Given the description of an element on the screen output the (x, y) to click on. 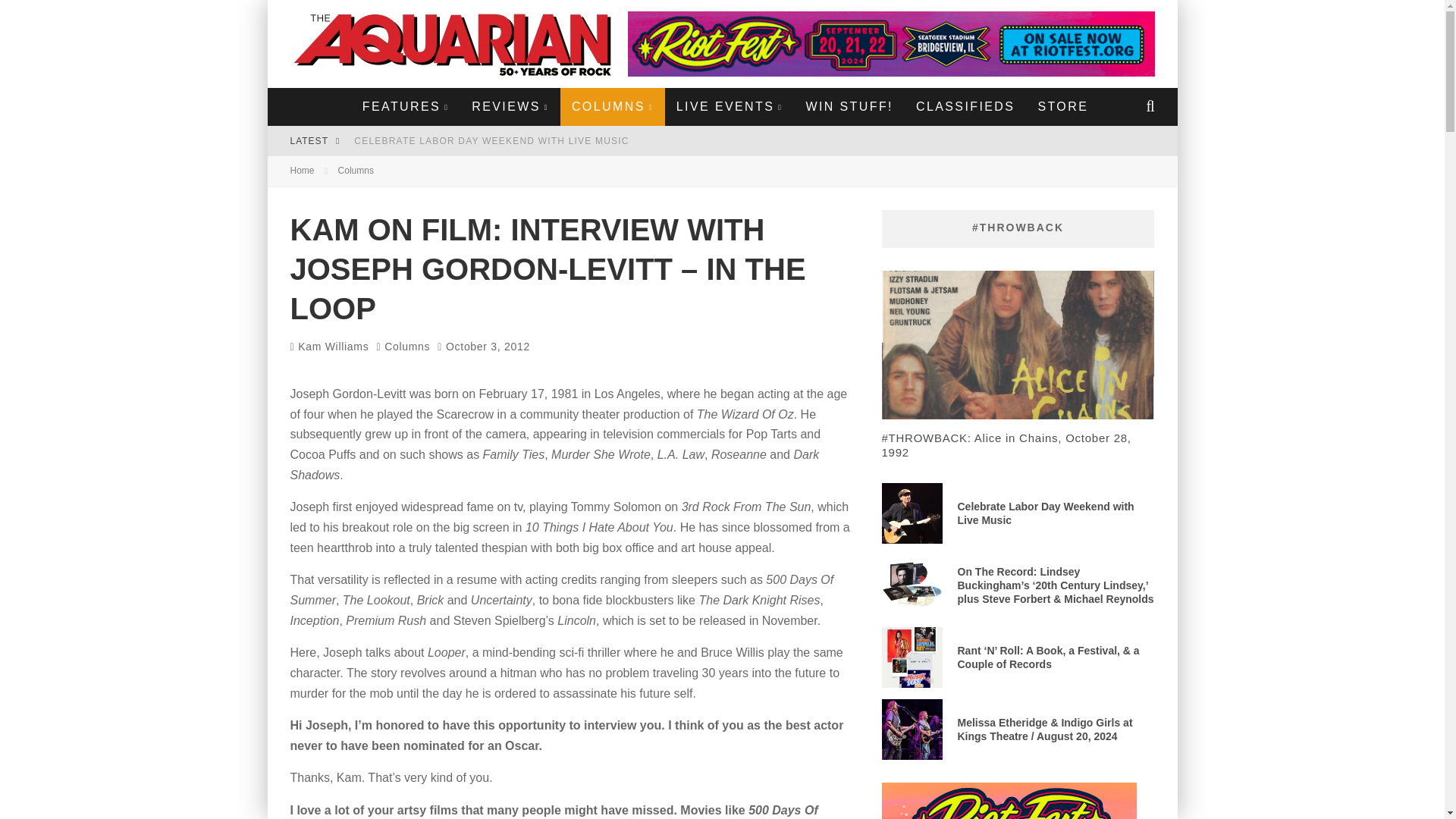
COLUMNS (612, 106)
Celebrate Labor Day Weekend with Live Music (490, 140)
FEATURES (405, 106)
REVIEWS (510, 106)
